Given the description of an element on the screen output the (x, y) to click on. 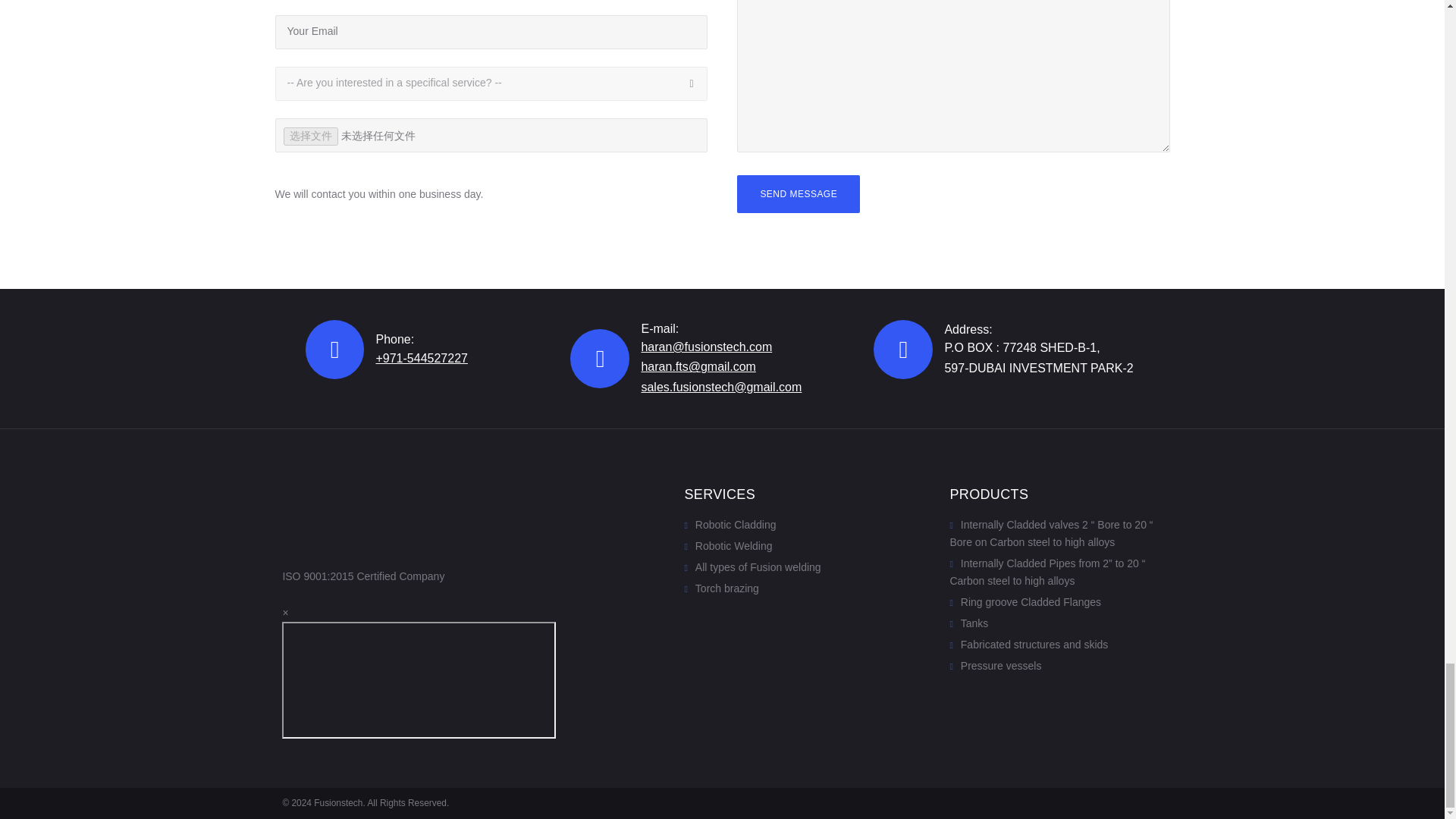
All types of Fusion welding (752, 567)
Send Message (798, 193)
Robotic Cladding (730, 524)
Torch brazing (721, 588)
Send Message (798, 193)
Robotic Welding (727, 545)
